Given the description of an element on the screen output the (x, y) to click on. 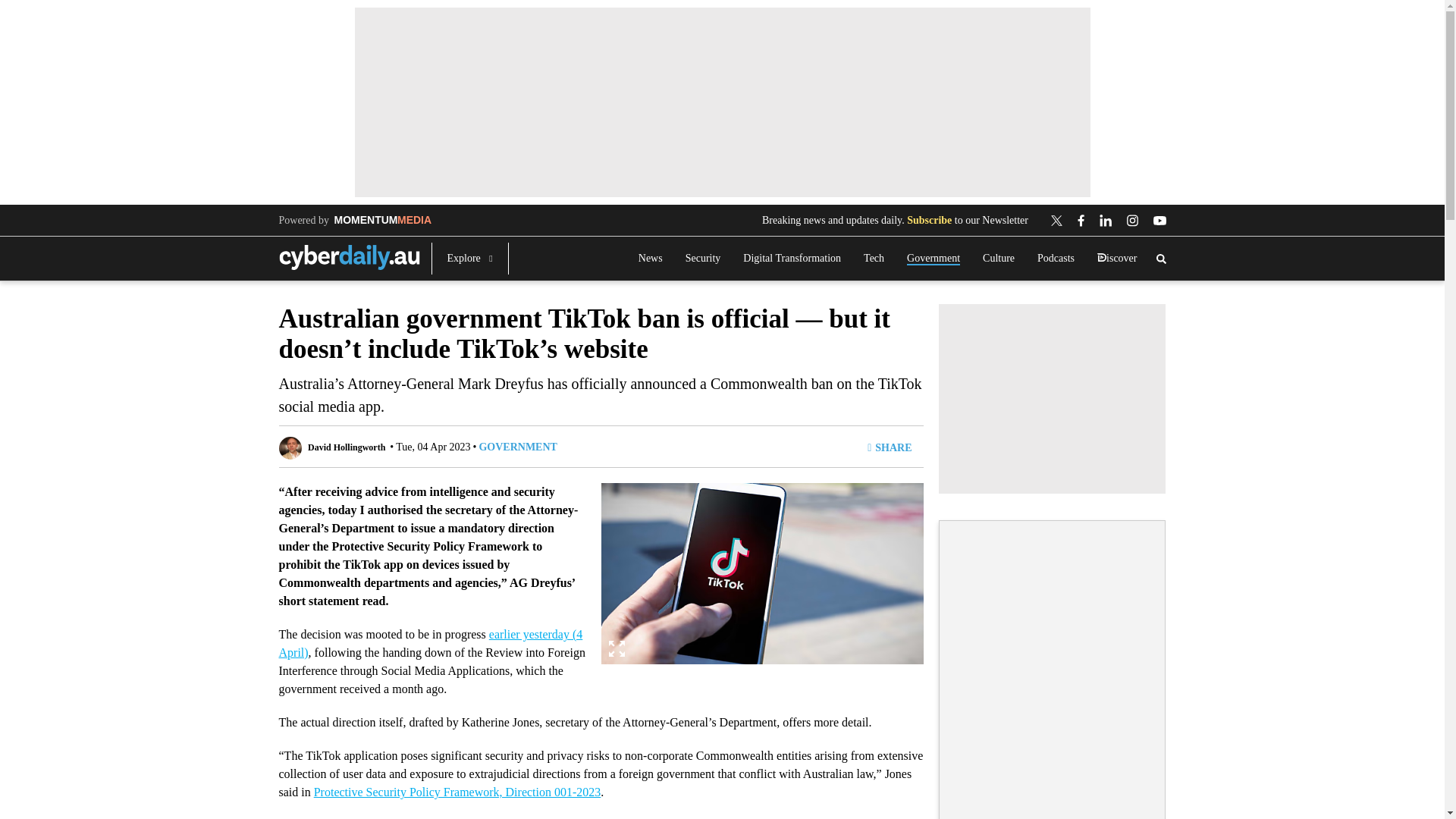
Subscribe (929, 220)
View all articles from David Hollingworth (346, 447)
Powered by MOMENTUM MEDIA (355, 220)
